Given the description of an element on the screen output the (x, y) to click on. 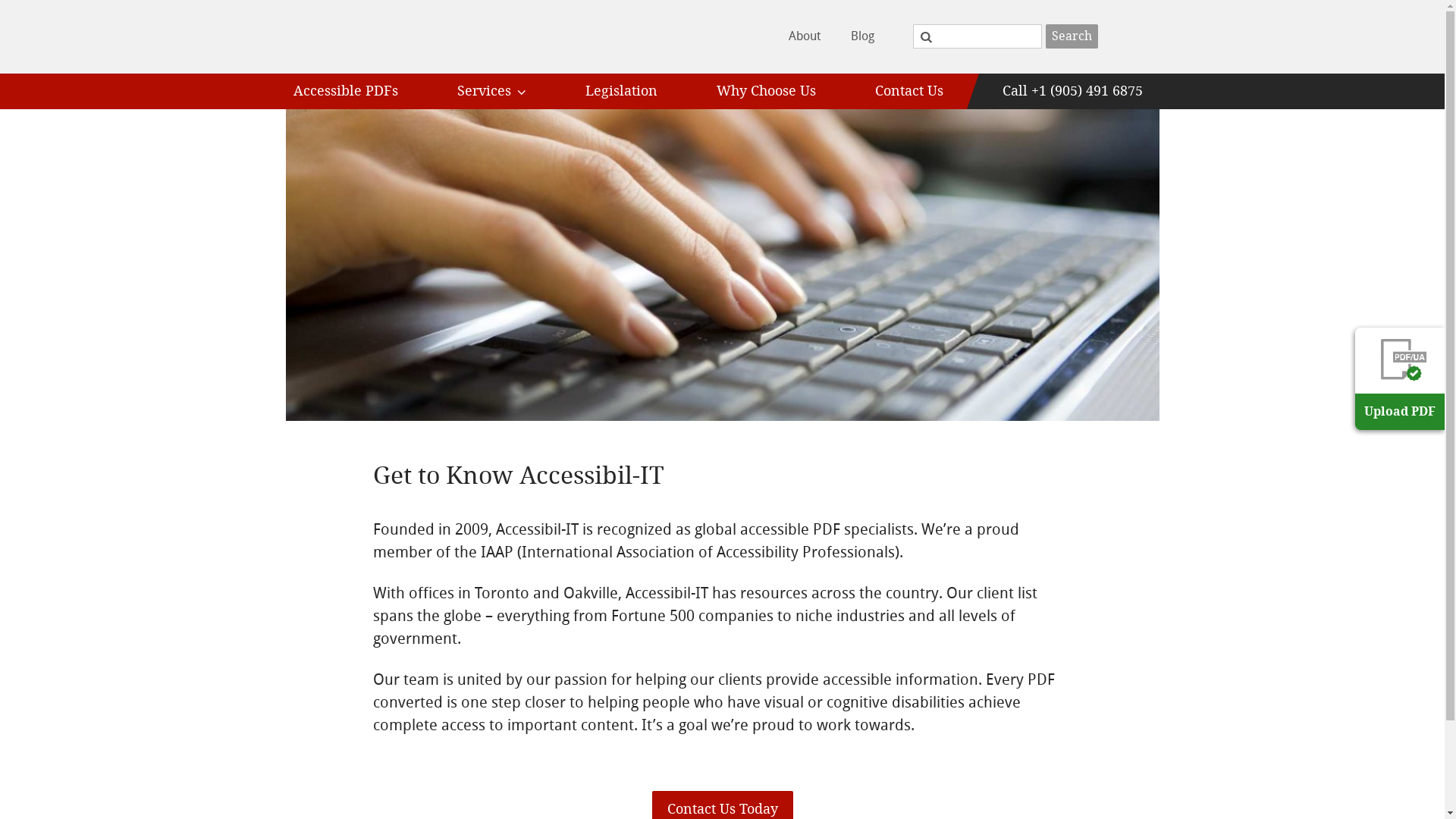
About Element type: text (804, 36)
Contact Us Element type: text (908, 91)
Call +1 (905) 491 6875 Element type: text (1071, 91)
Legislation Element type: text (620, 91)
Upload PDF Element type: text (1399, 378)
Services Element type: text (491, 91)
Search Element type: text (1070, 36)
Blog Element type: text (862, 36)
Accessible PDFs Element type: text (345, 91)
Accessibil-IT Element type: text (368, 36)
Why Choose Us Element type: text (766, 91)
